Given the description of an element on the screen output the (x, y) to click on. 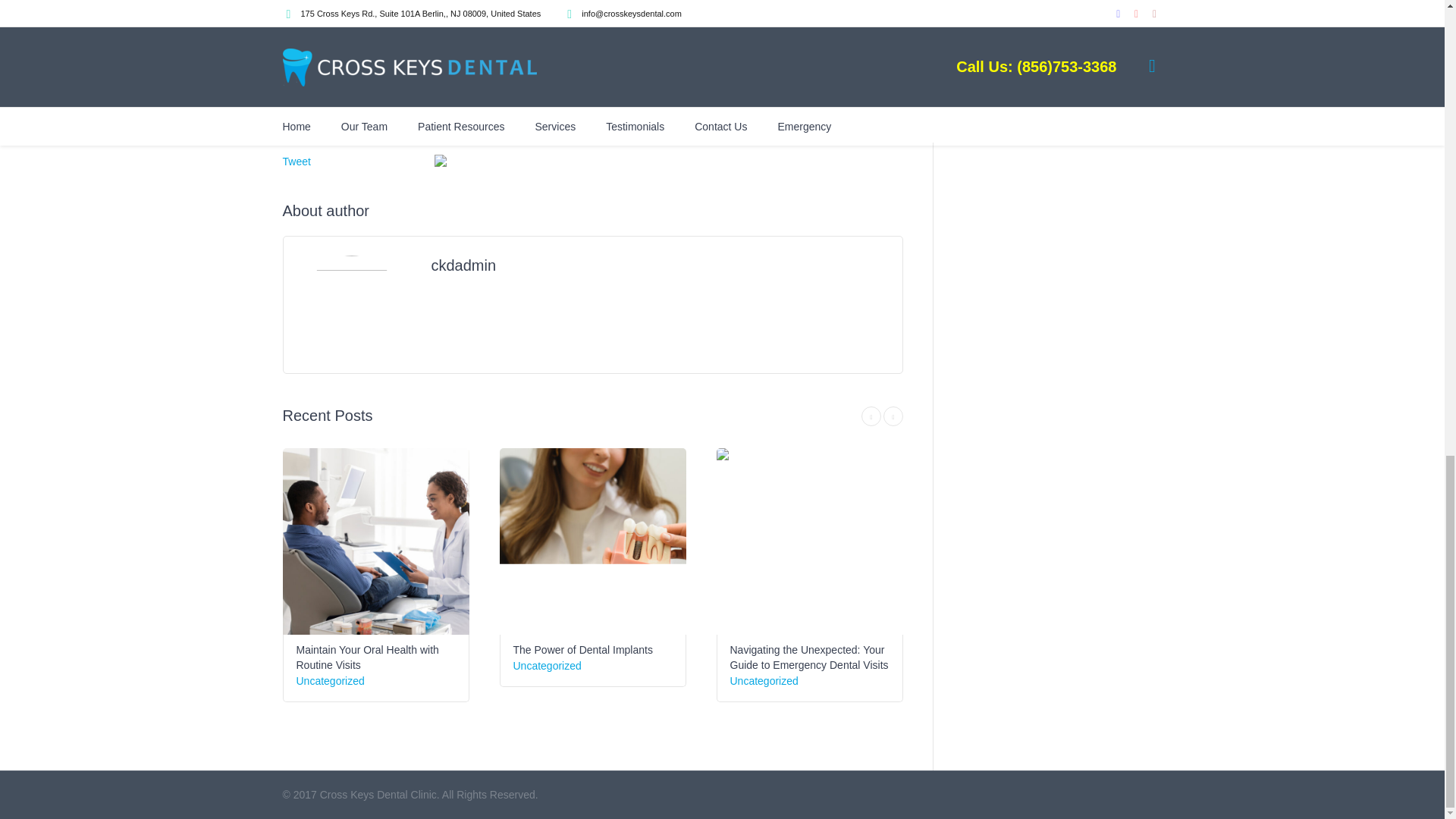
Maintain Your Oral Health with Routine Visits (366, 656)
Maintain Your Oral Health with Routine Visits (375, 540)
The Power of Dental Implants (592, 540)
The Power of Dental Implants (582, 649)
